Given the description of an element on the screen output the (x, y) to click on. 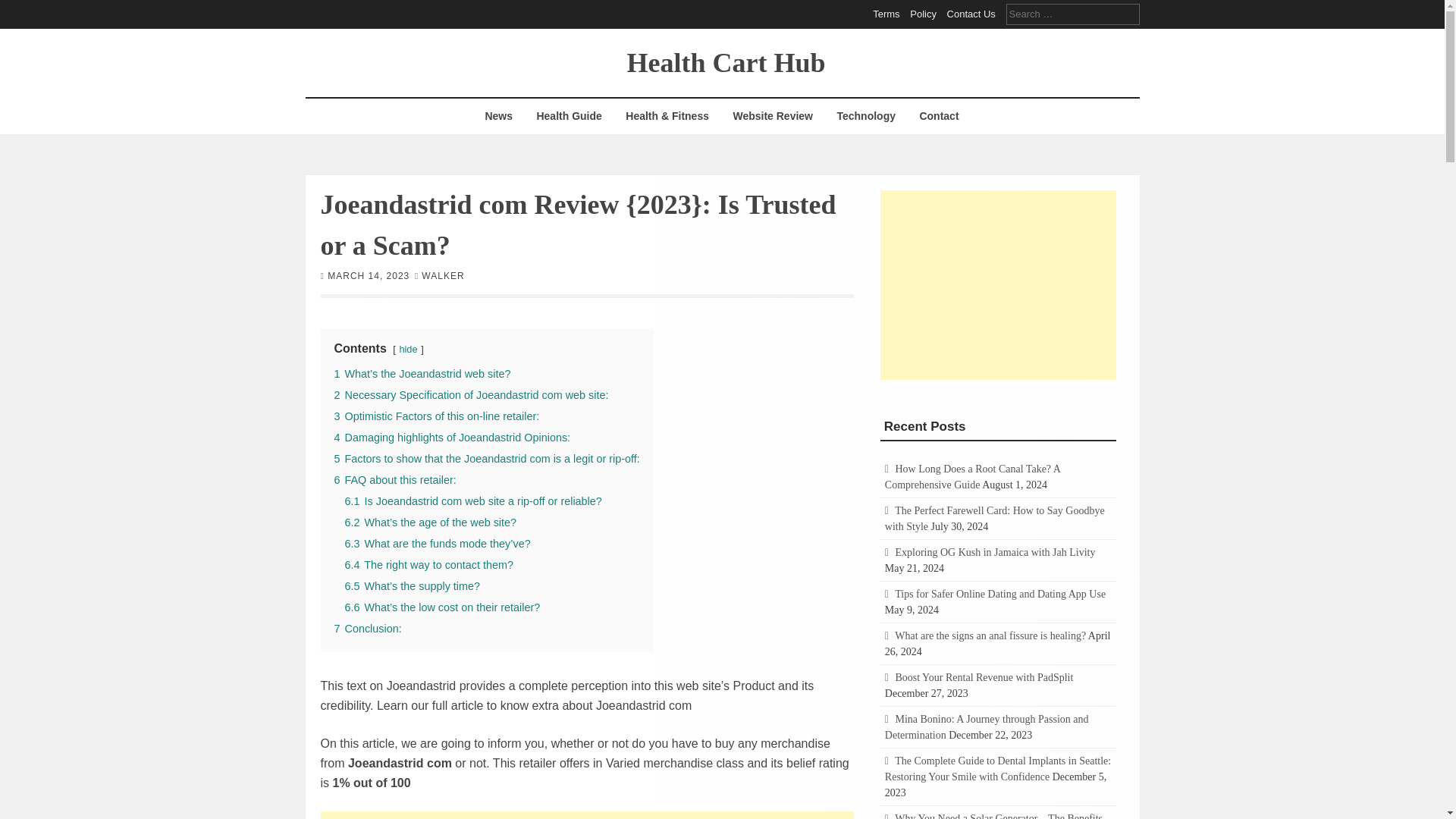
Website Review (772, 116)
6 FAQ about this retailer: (394, 479)
2 Necessary Specification of Joeandastrid com web site: (470, 394)
Terms (885, 13)
Policy (923, 13)
4 Damaging highlights of Joeandastrid Opinions: (451, 436)
The Perfect Farewell Card: How to Say Goodbye with Style (995, 518)
Contact Us (971, 13)
Health Guide (568, 116)
